Given the description of an element on the screen output the (x, y) to click on. 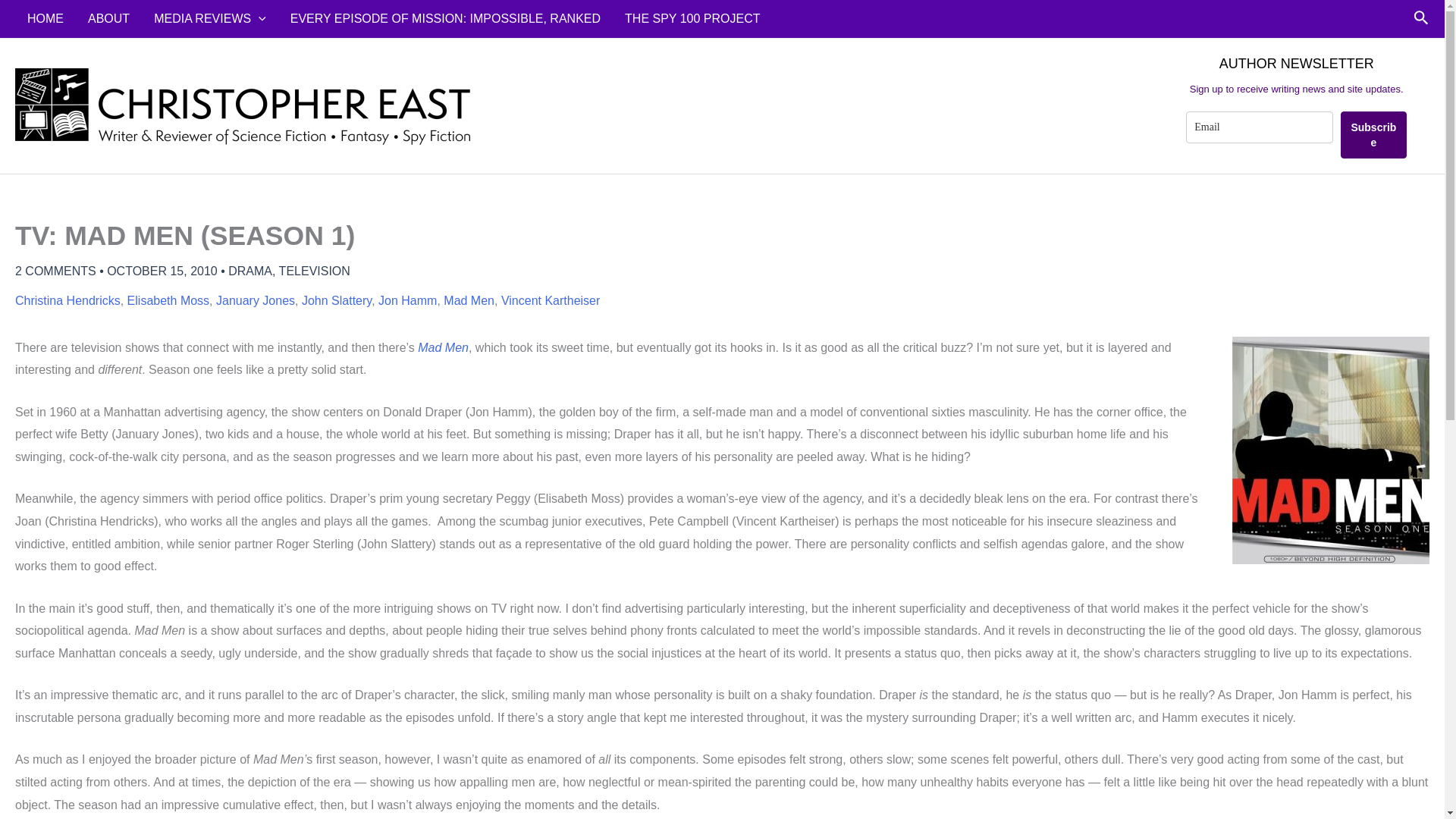
January Jones (255, 300)
DRAMA (250, 270)
Vincent Kartheiser (549, 300)
TELEVISION (314, 270)
THE SPY 100 PROJECT (691, 18)
Mad Men (469, 300)
Subscribe (1373, 134)
Christina Hendricks (67, 300)
Elisabeth Moss (168, 300)
HOME (44, 18)
2 COMMENTS (55, 270)
John Slattery (336, 300)
Mad Men (442, 347)
EVERY EPISODE OF MISSION: IMPOSSIBLE, RANKED (445, 18)
ABOUT (108, 18)
